Given the description of an element on the screen output the (x, y) to click on. 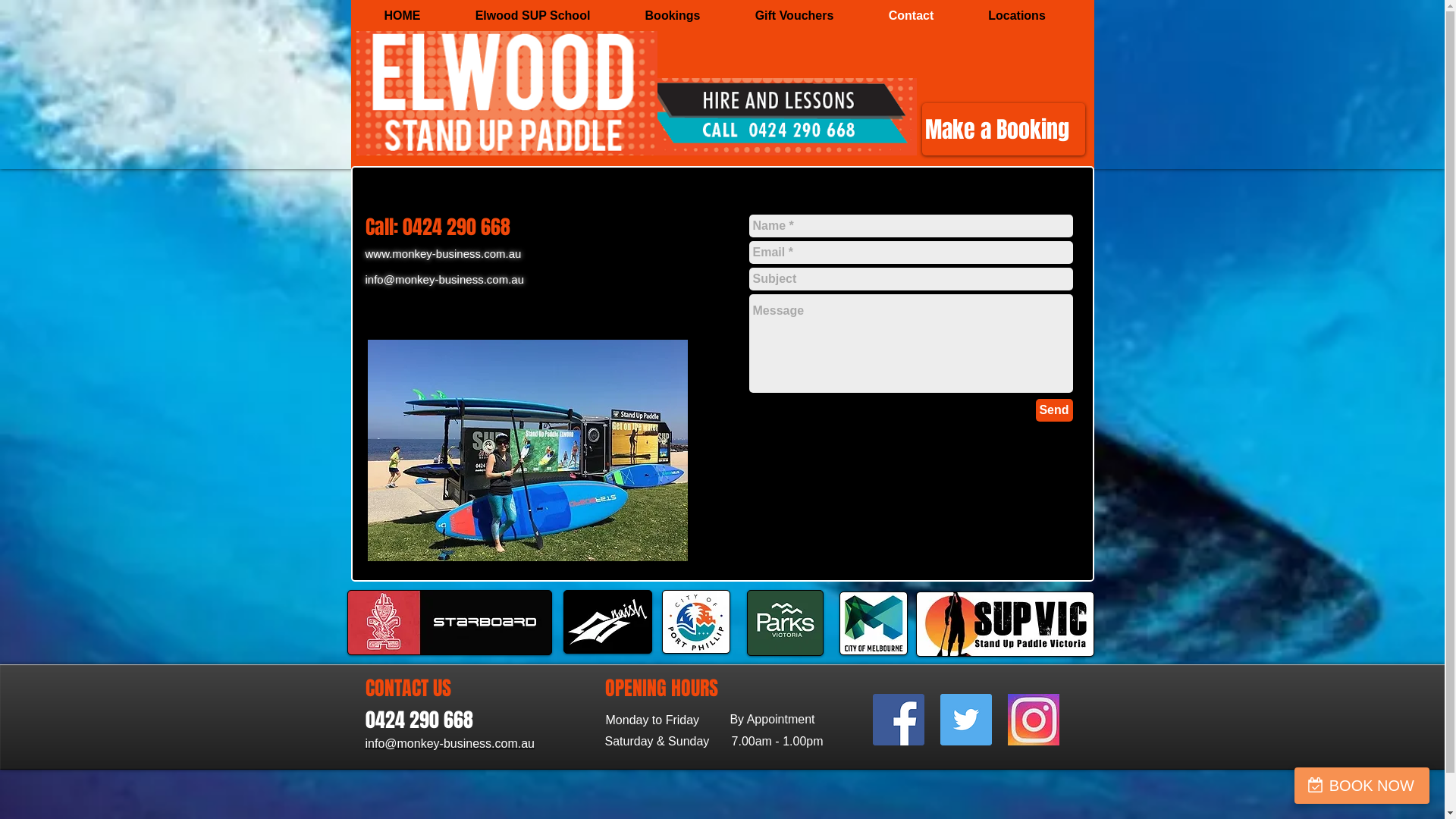
Make a Booking Element type: text (1003, 129)
Gift Vouchers Element type: text (794, 15)
HOME Element type: text (401, 15)
Bookings Element type: text (672, 15)
info@monkey-business.com.au Element type: text (444, 279)
Locations Element type: text (1017, 15)
Send Element type: text (1054, 409)
Naish SUP Element type: hover (606, 621)
Edited Image 2016-11-07 02-17-11 Element type: hover (527, 450)
www.monkey-business.com.au Element type: text (443, 253)
Parks Victoria Element type: hover (784, 622)
Screen shot 2016-09-26 at 3.14.26 PM.png Element type: hover (506, 93)
info@monkey-business.com.au Element type: text (449, 743)
Elwood SUP School Element type: text (532, 15)
BOOK NOW Element type: text (1361, 785)
Contact Element type: text (911, 15)
header_logo.jpg Element type: hover (449, 622)
